Given the description of an element on the screen output the (x, y) to click on. 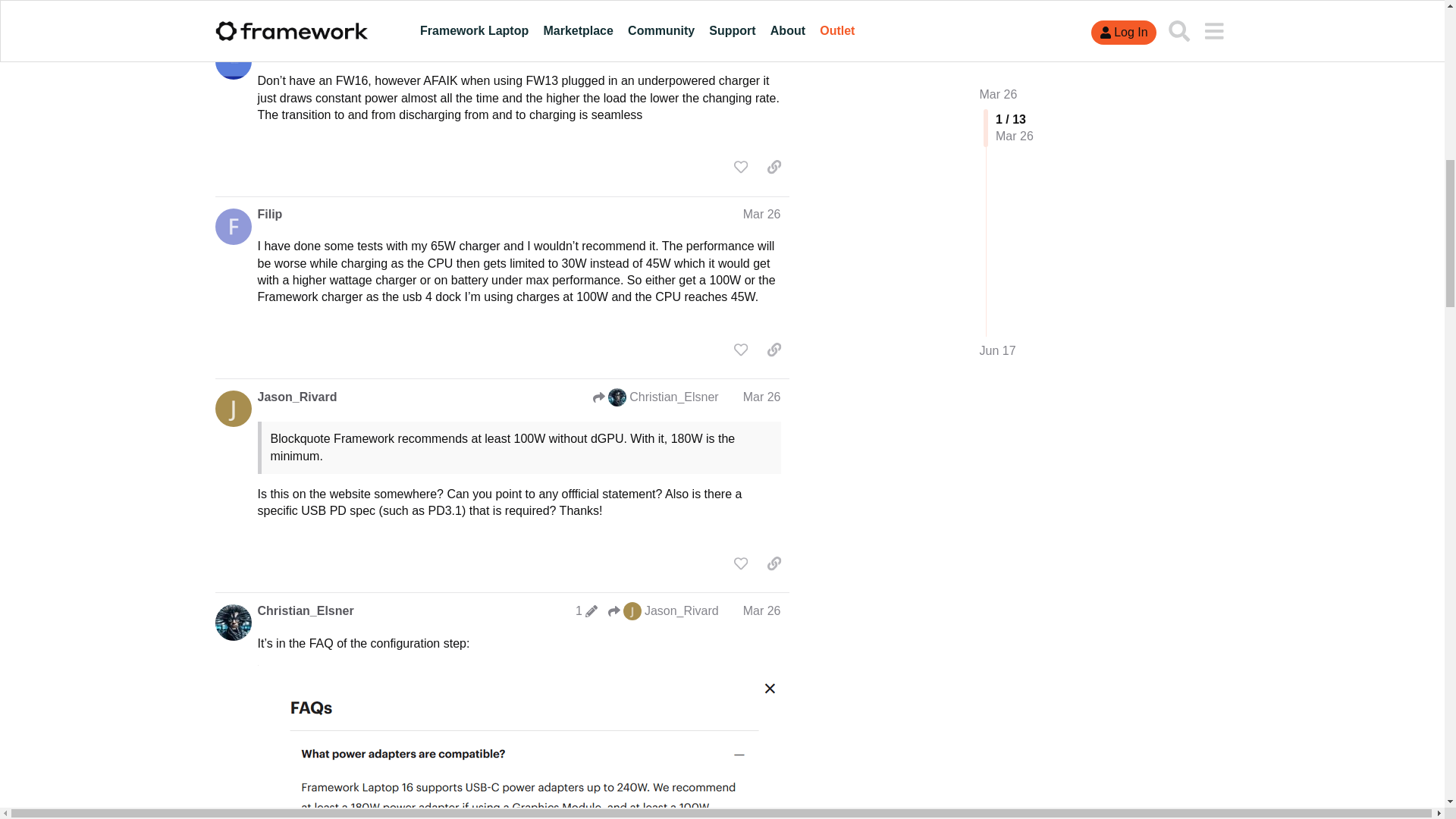
1 Reply (284, 7)
